Given the description of an element on the screen output the (x, y) to click on. 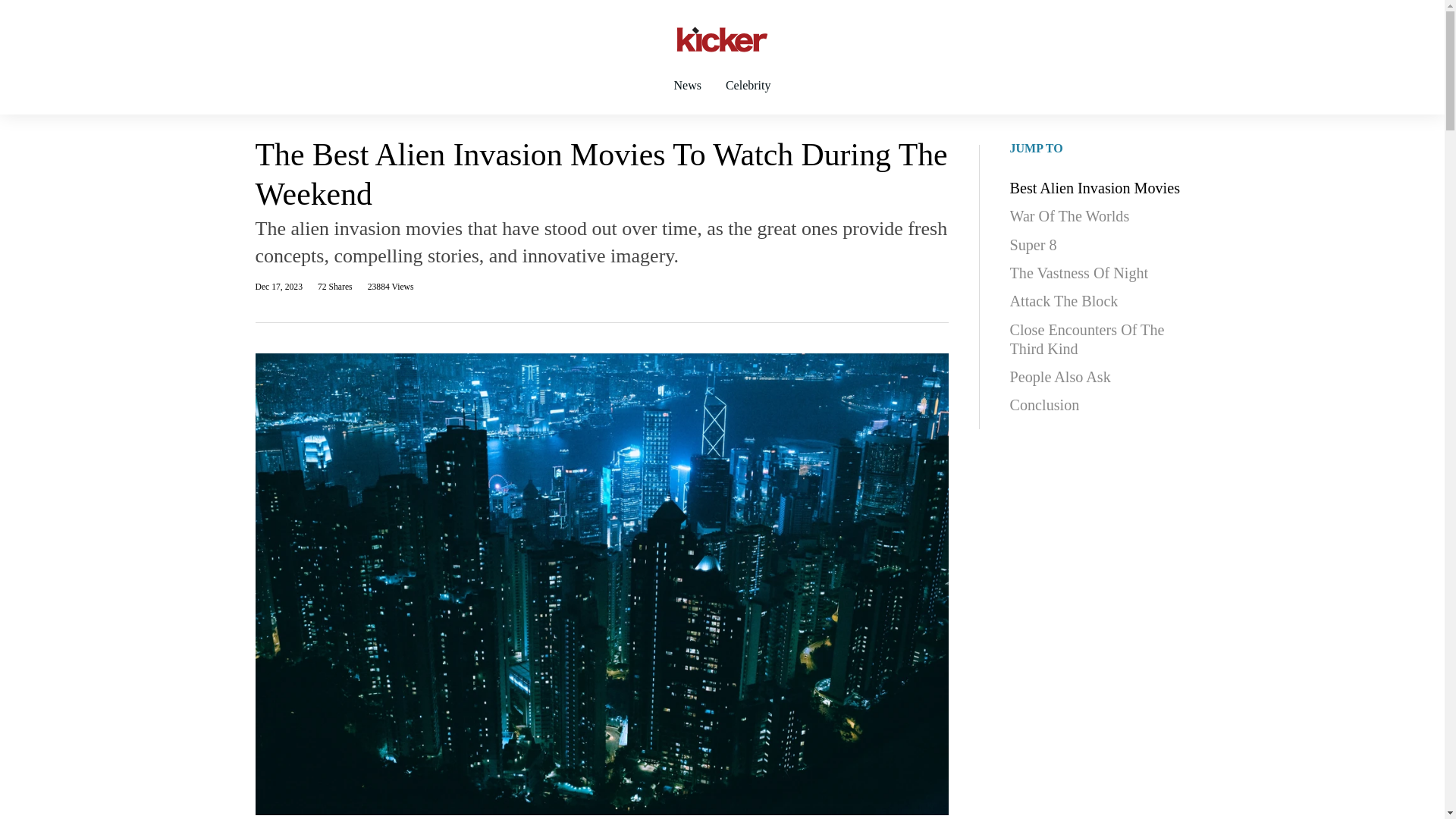
People Also Ask (1060, 377)
Close Encounters Of The Third Kind (1099, 339)
The Vastness Of Night (1079, 273)
Celebrity (748, 97)
Conclusion (1045, 406)
Attack The Block (1064, 302)
Best Alien Invasion Movies (1095, 188)
Super 8 (1033, 245)
News (687, 97)
War Of The Worlds (1069, 216)
